Given the description of an element on the screen output the (x, y) to click on. 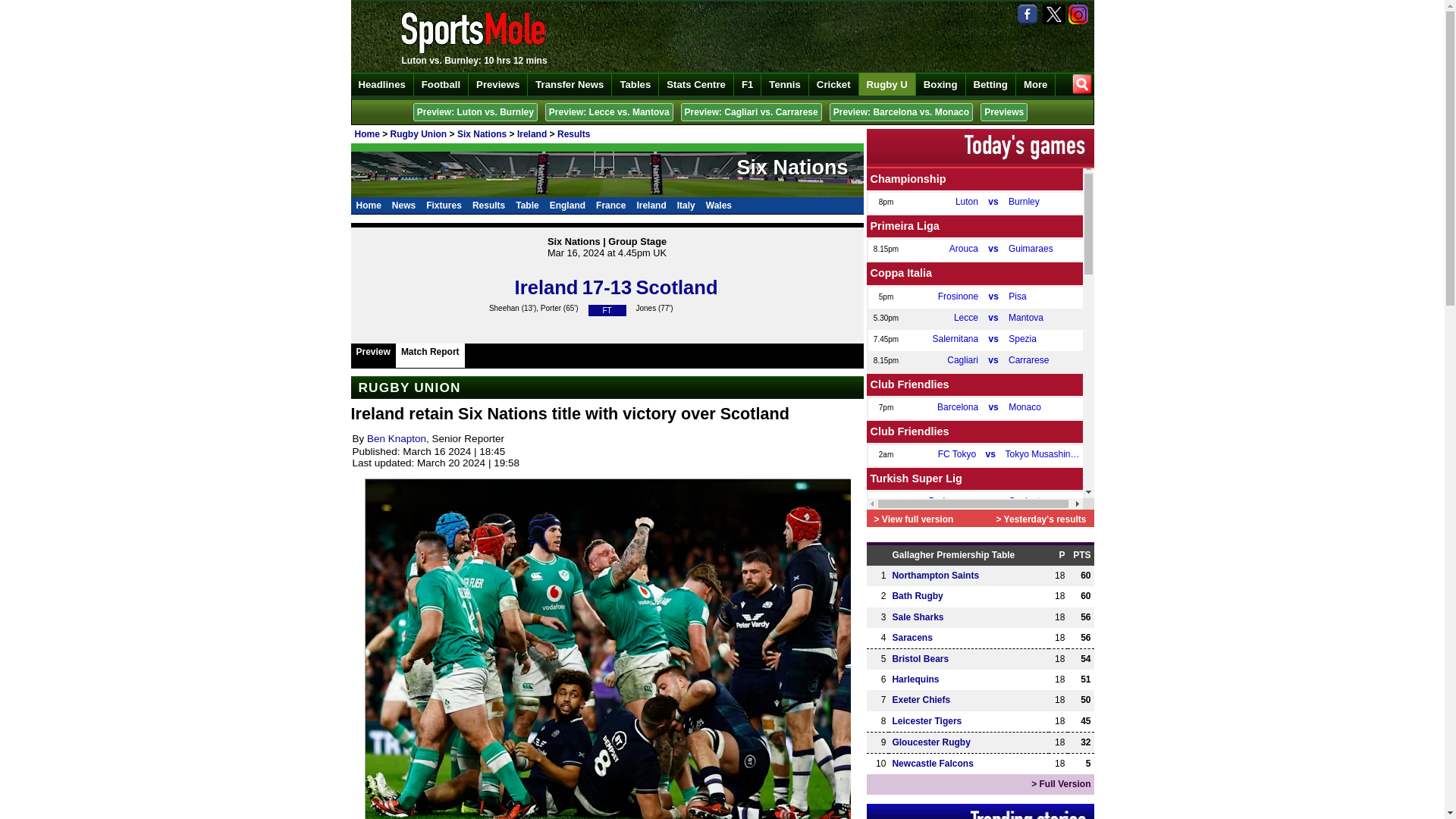
Previews (1003, 112)
Fixtures (443, 205)
Cricket (834, 83)
Rugby U (887, 83)
F1 (747, 83)
Ireland (531, 133)
News (403, 205)
Facebook (1029, 14)
Transfer News (569, 83)
